Given the description of an element on the screen output the (x, y) to click on. 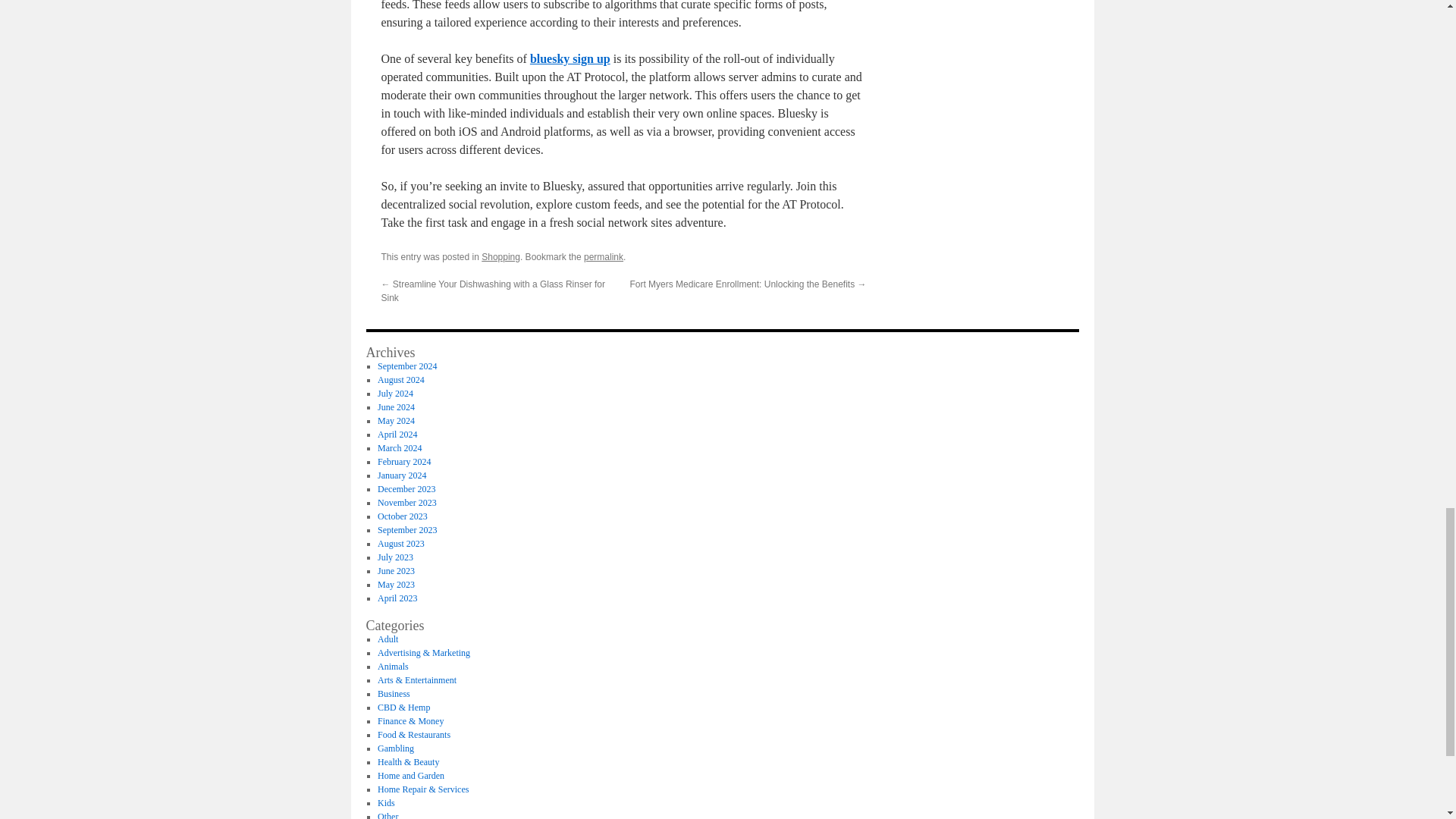
Shopping (500, 256)
November 2023 (406, 502)
February 2024 (403, 461)
April 2023 (396, 597)
October 2023 (402, 516)
June 2023 (395, 570)
December 2023 (406, 489)
permalink (603, 256)
September 2024 (406, 366)
August 2024 (401, 379)
